Given the description of an element on the screen output the (x, y) to click on. 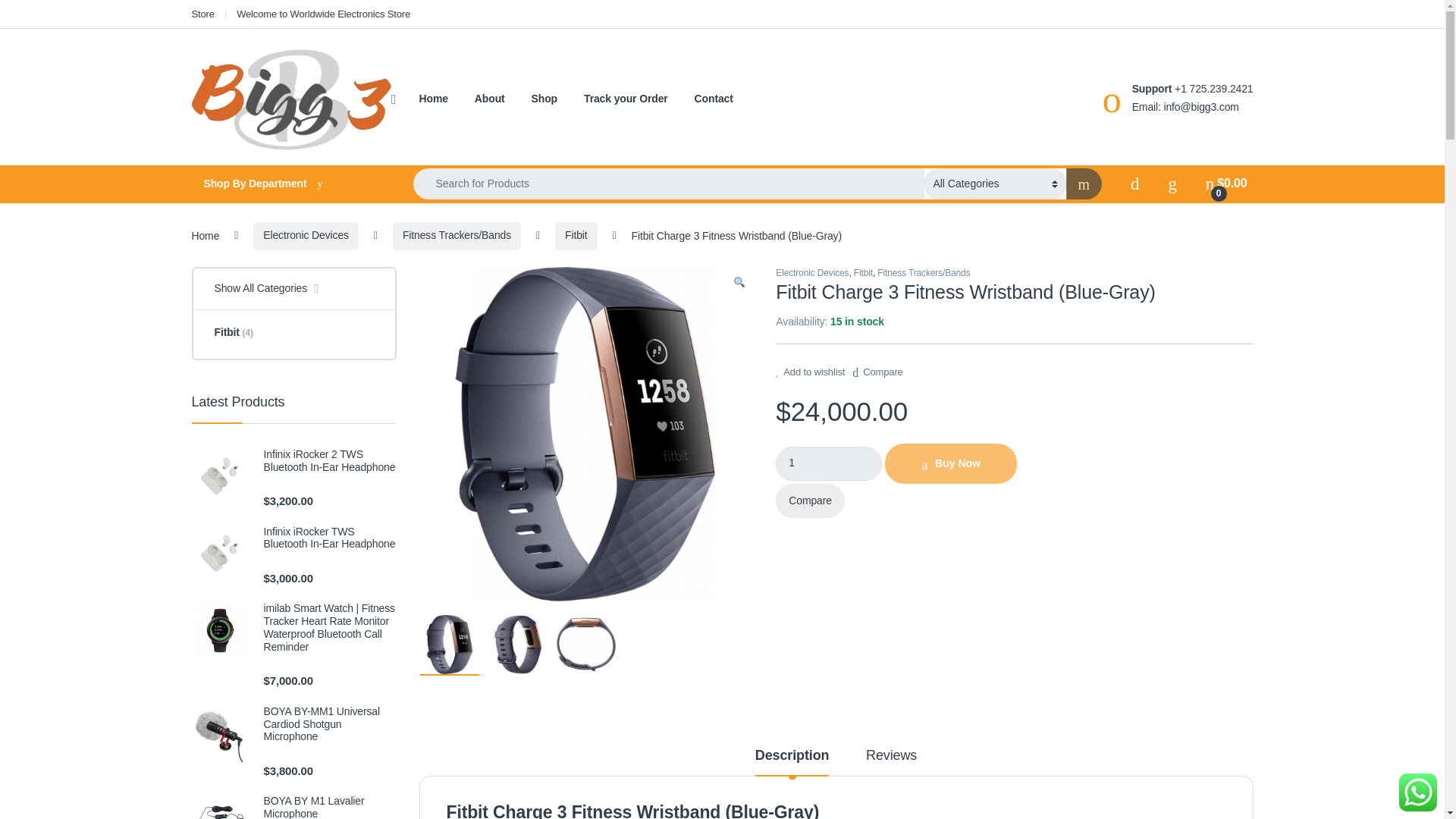
Shop By Department (287, 184)
Track your Order (625, 99)
1 (829, 463)
Store (202, 13)
Welcome to Worldwide Electronics Store (322, 13)
Home (432, 99)
Shop (544, 99)
About (489, 99)
Welcome to Worldwide Electronics Store (322, 13)
Store (202, 13)
Contact (713, 99)
